Given the description of an element on the screen output the (x, y) to click on. 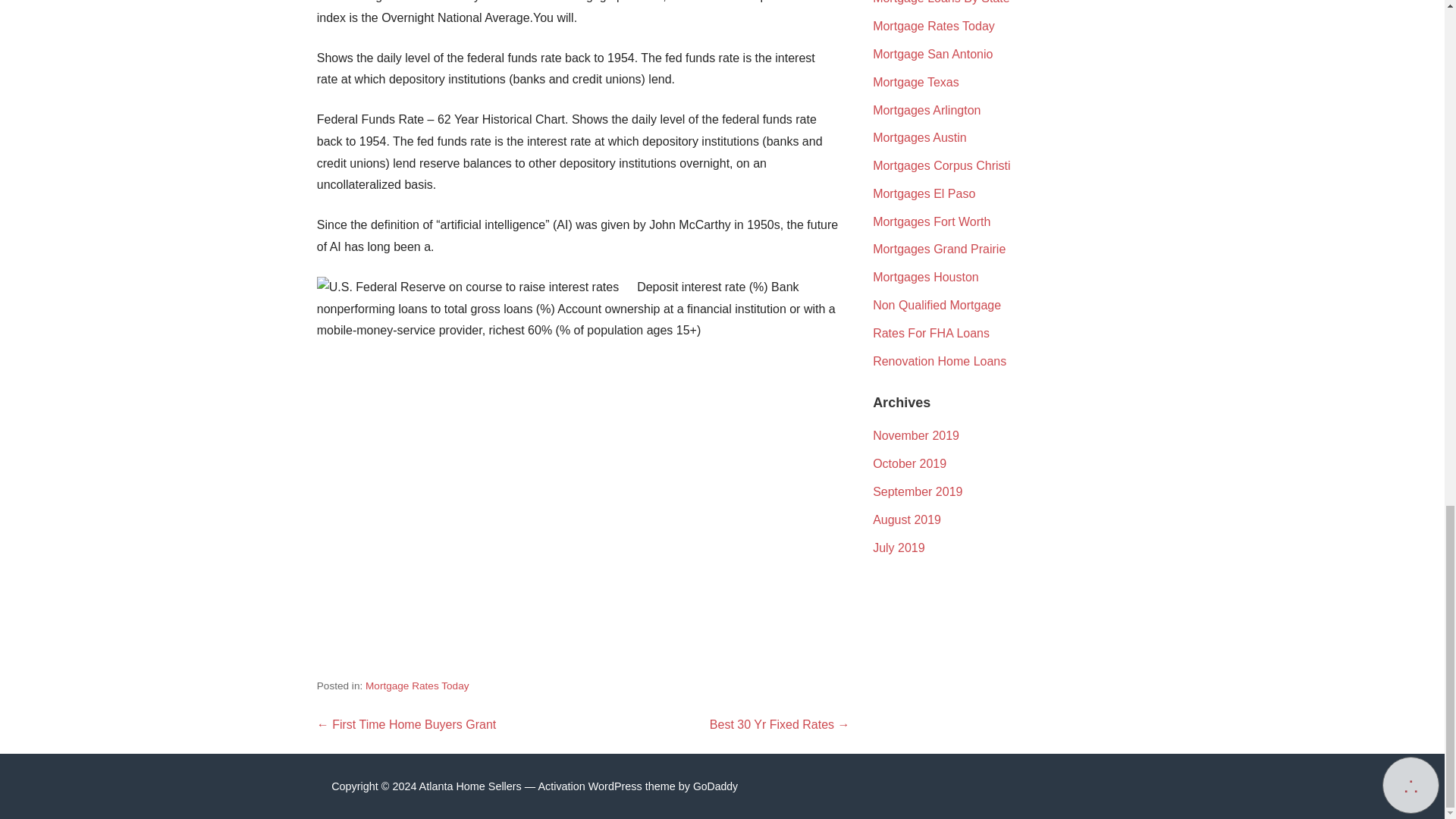
Mortgage Rates Today (416, 685)
